Given the description of an element on the screen output the (x, y) to click on. 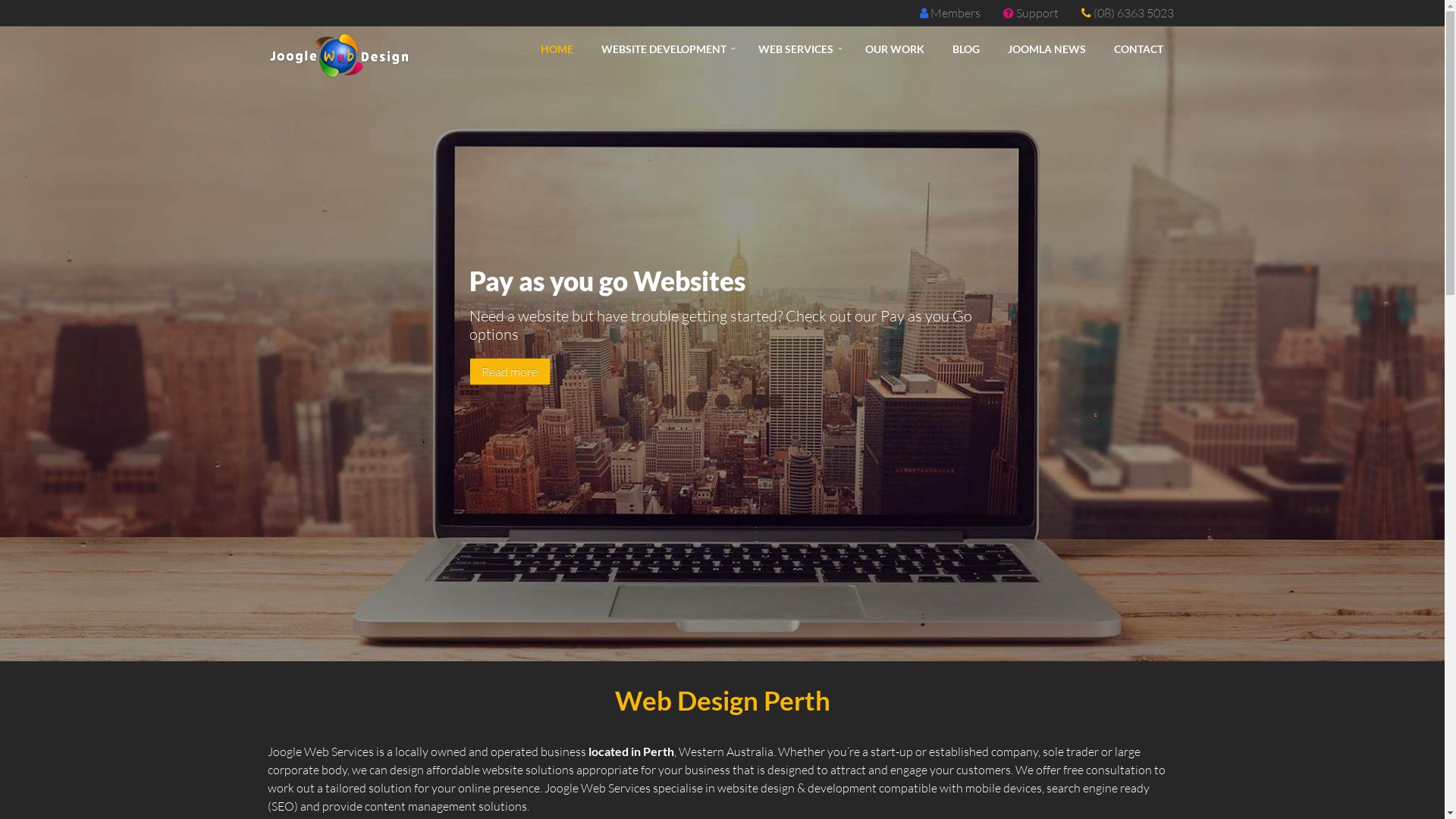
BLOG Element type: text (965, 48)
Search Element type: text (774, 400)
HOME Element type: text (556, 48)
Read more Element type: text (509, 370)
Joomla Maintenance & Security Element type: text (748, 400)
(08) 6363 5023 Element type: text (1133, 12)
Web Design Element type: text (721, 400)
WEB SERVICES Element type: text (797, 48)
CONTACT Element type: text (1137, 48)
Pay as you go Websites Element type: text (692, 398)
JOOMLA NEWS Element type: text (1045, 48)
WEBSITE DEVELOPMENT Element type: text (664, 48)
Data Privacy Assessments Element type: text (668, 400)
Support Element type: text (1037, 12)
OUR WORK Element type: text (893, 48)
Members Element type: text (954, 12)
